Given the description of an element on the screen output the (x, y) to click on. 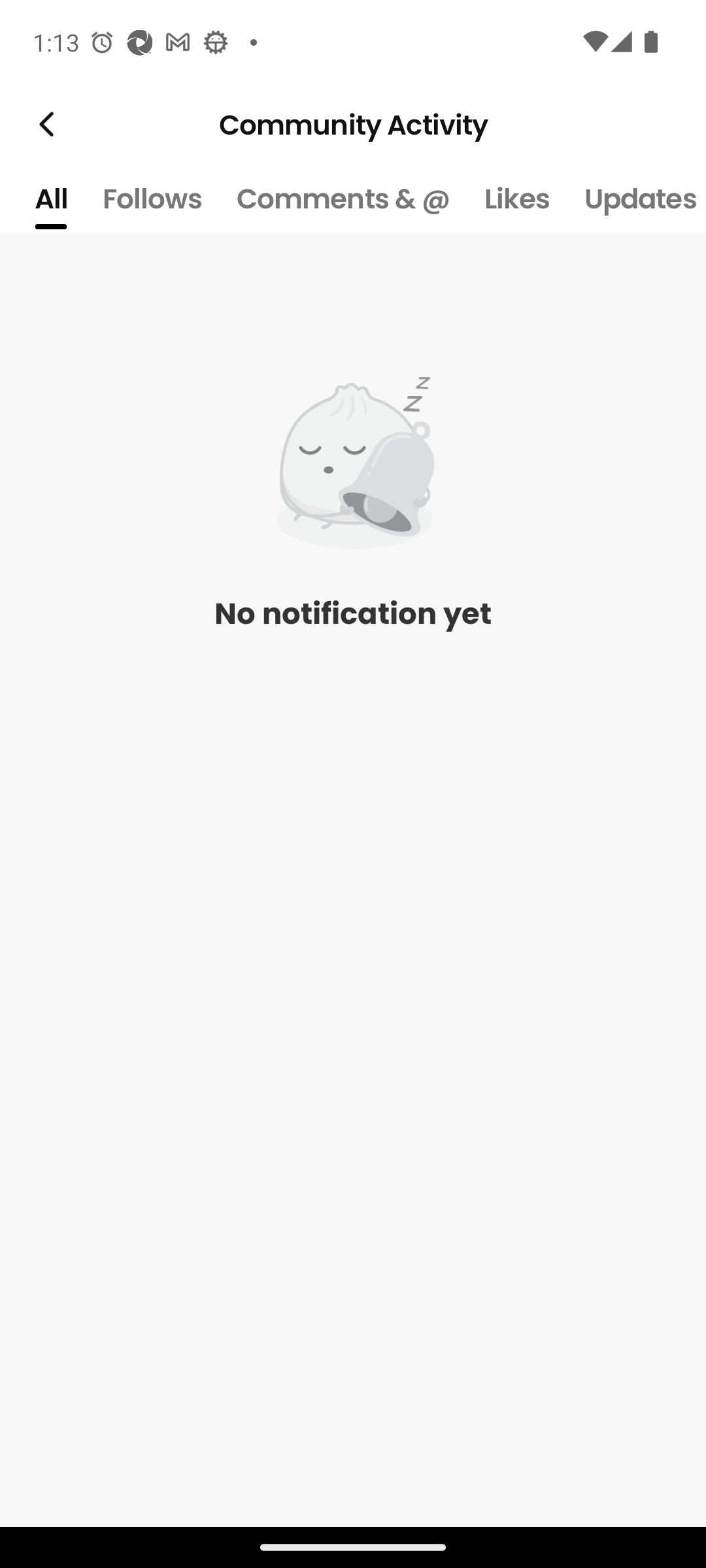
All (50, 199)
Follows (151, 199)
Comments & @ (342, 199)
Likes (516, 199)
Updates (636, 199)
